Given the description of an element on the screen output the (x, y) to click on. 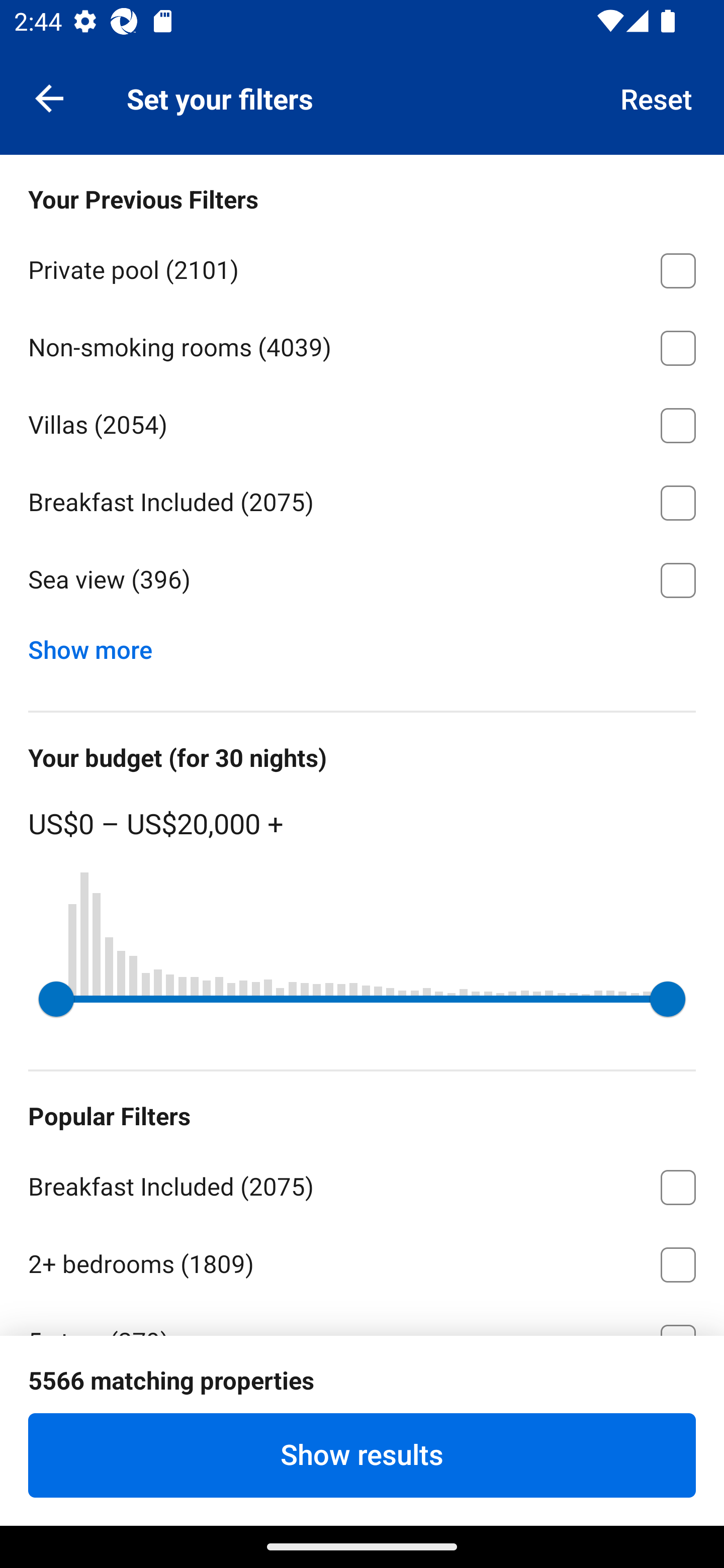
Navigate up (49, 97)
Reset (656, 97)
Private pool ⁦(2101) (361, 266)
Non-smoking rooms ⁦(4039) (361, 344)
Villas ⁦(2054) (361, 422)
Breakfast Included ⁦(2075) (361, 498)
Sea view ⁦(396) (361, 579)
Show more (97, 645)
0.0 Range start,US$0 20000.0 Range end,US$20,000 + (361, 998)
Breakfast Included ⁦(2075) (361, 1183)
2+ bedrooms ⁦(1809) (361, 1261)
Show results (361, 1454)
